Given the description of an element on the screen output the (x, y) to click on. 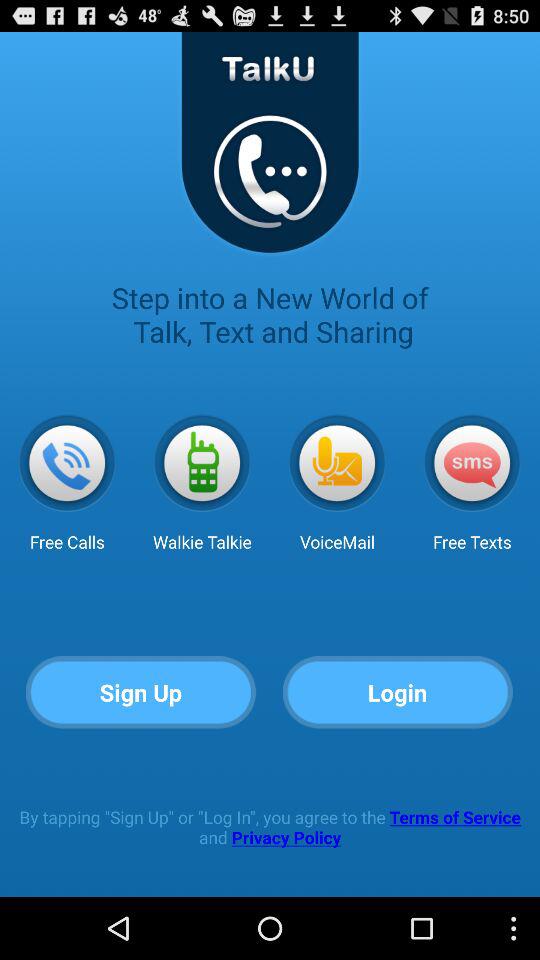
press button at the bottom right corner (398, 692)
